Given the description of an element on the screen output the (x, y) to click on. 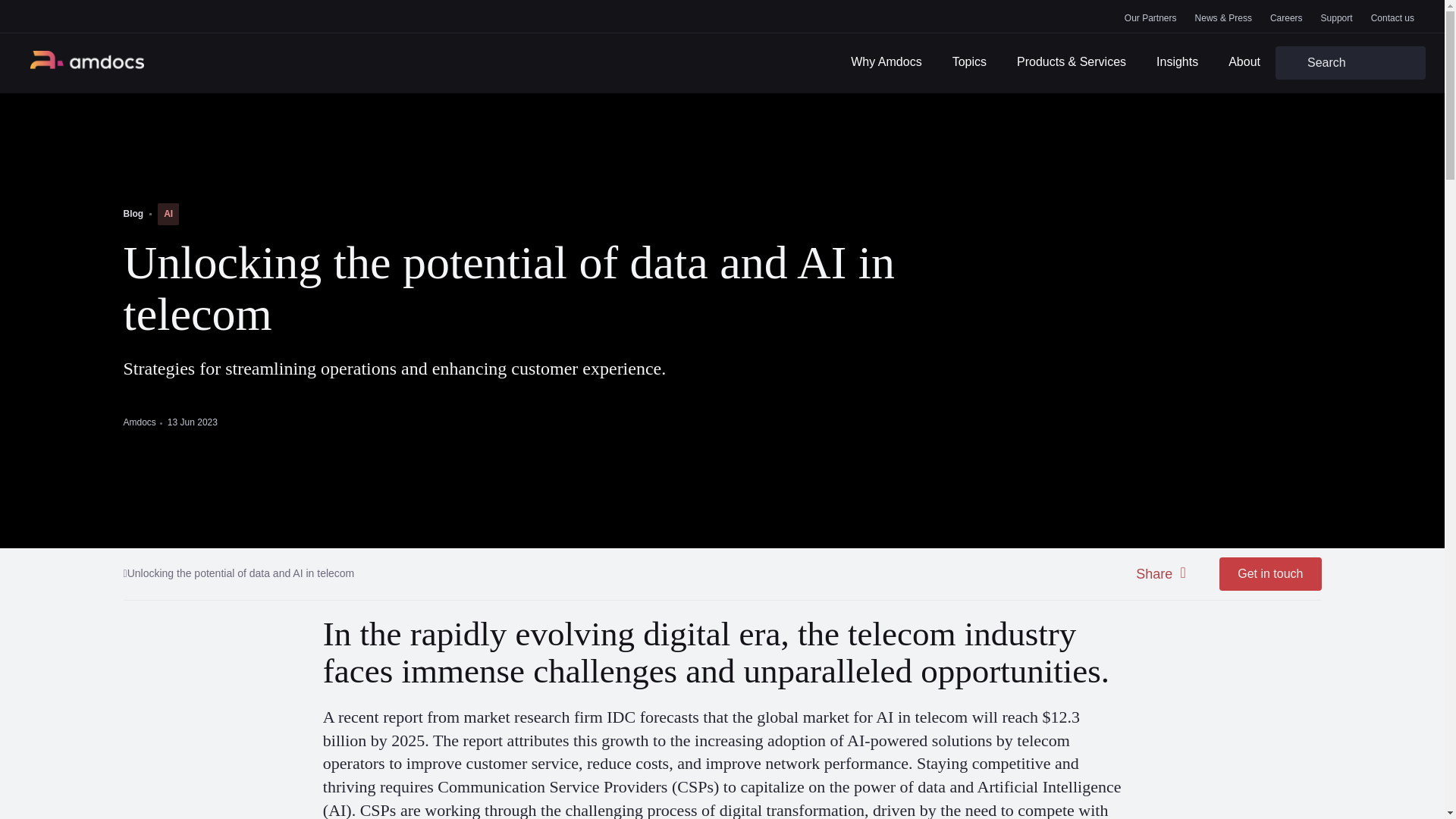
Our Partners (1150, 18)
Our Partners (1150, 18)
Careers (1286, 18)
Why Amdocs (885, 63)
Home (87, 63)
Support (1336, 18)
Careers (1286, 18)
Contact us (1392, 18)
Support (1336, 18)
